Given the description of an element on the screen output the (x, y) to click on. 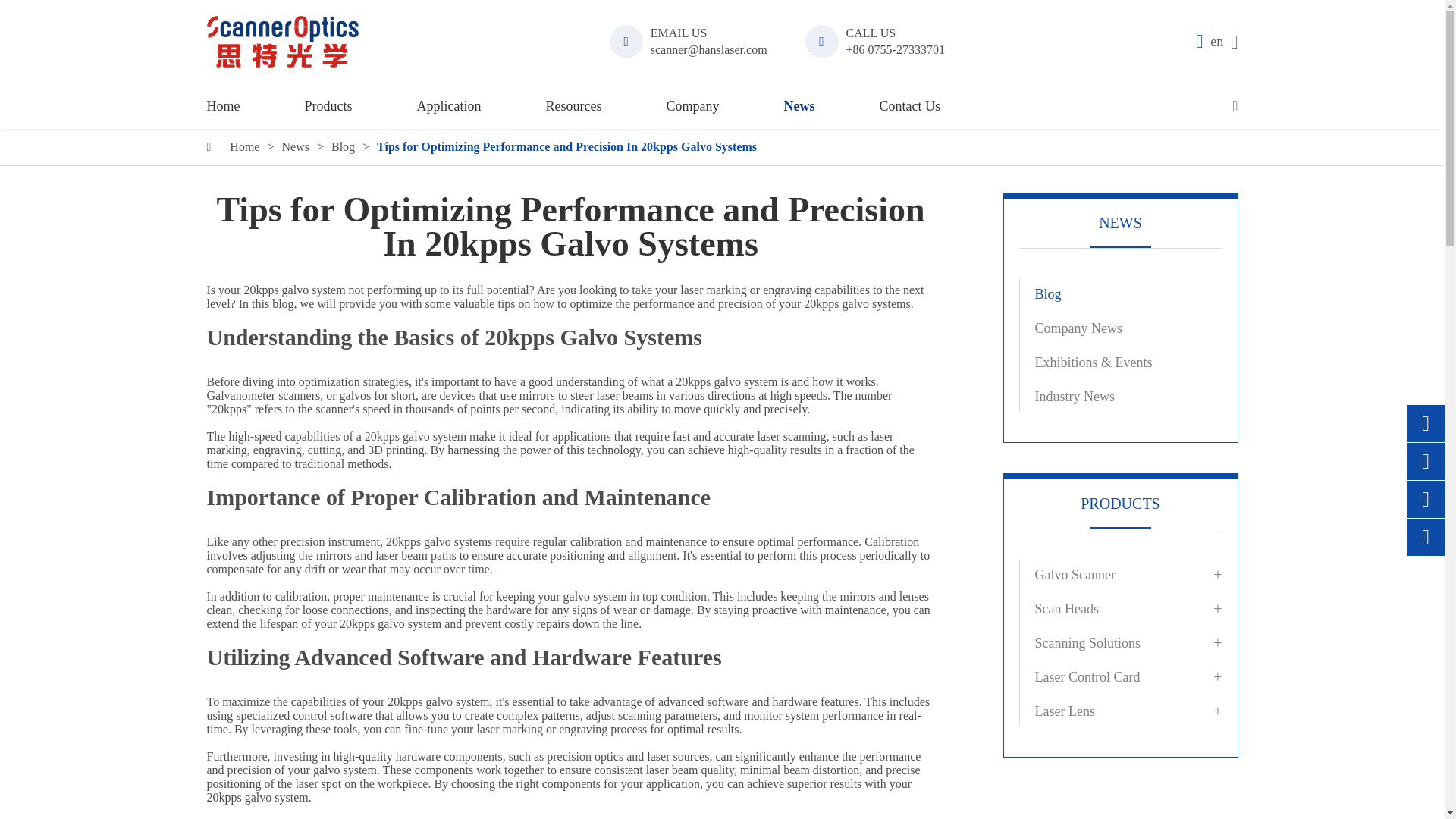
Blog (343, 147)
News (294, 147)
